Given the description of an element on the screen output the (x, y) to click on. 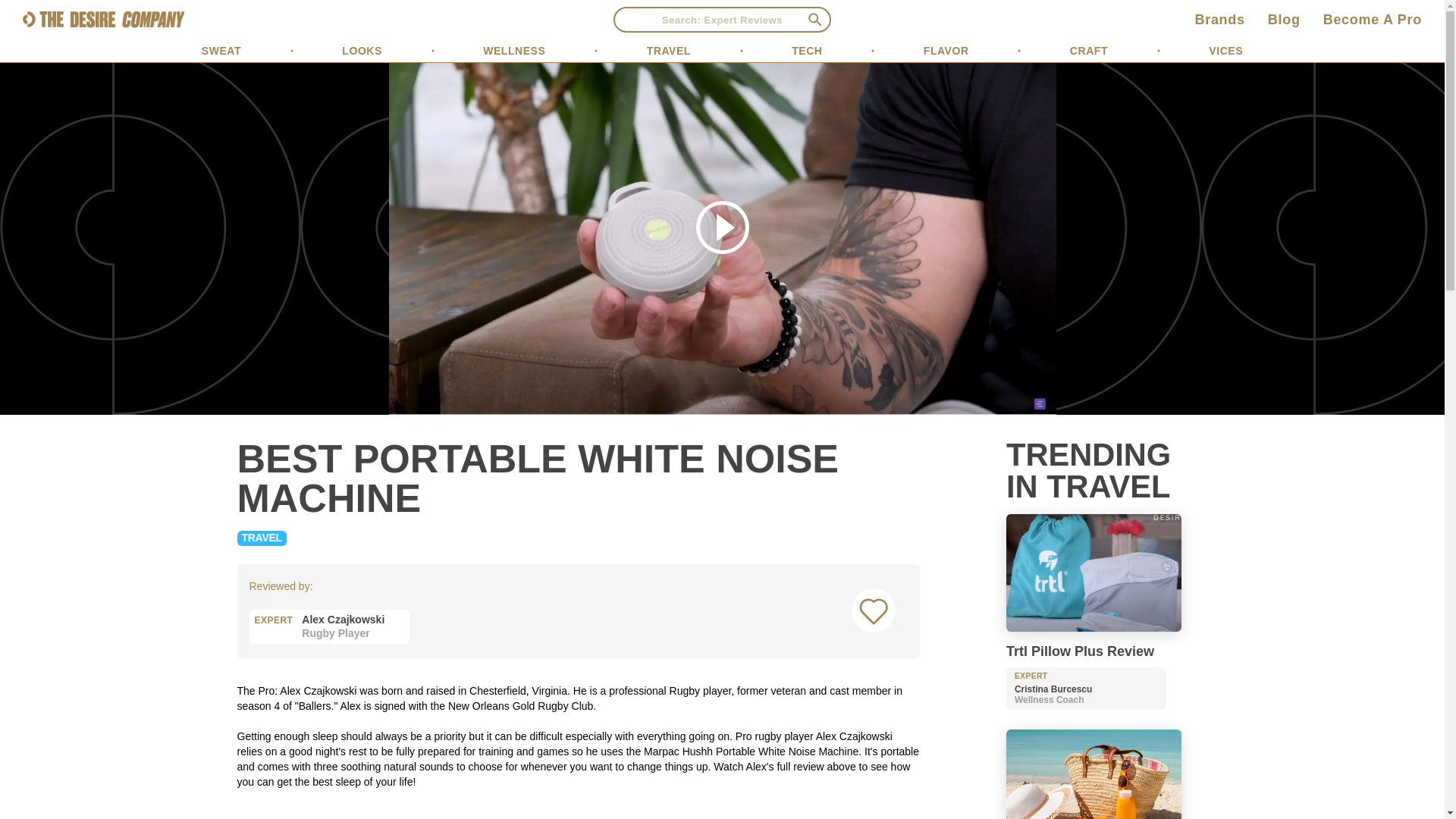
SWEAT (328, 618)
TRAVEL (221, 50)
Become A Pro (260, 536)
Brands (1372, 19)
CRAFT (1218, 19)
Blog (1089, 50)
TECH (1284, 19)
FLAVOR (807, 50)
TRAVEL (946, 50)
WELLNESS (668, 50)
LOOKS (513, 50)
VICES (361, 50)
